Given the description of an element on the screen output the (x, y) to click on. 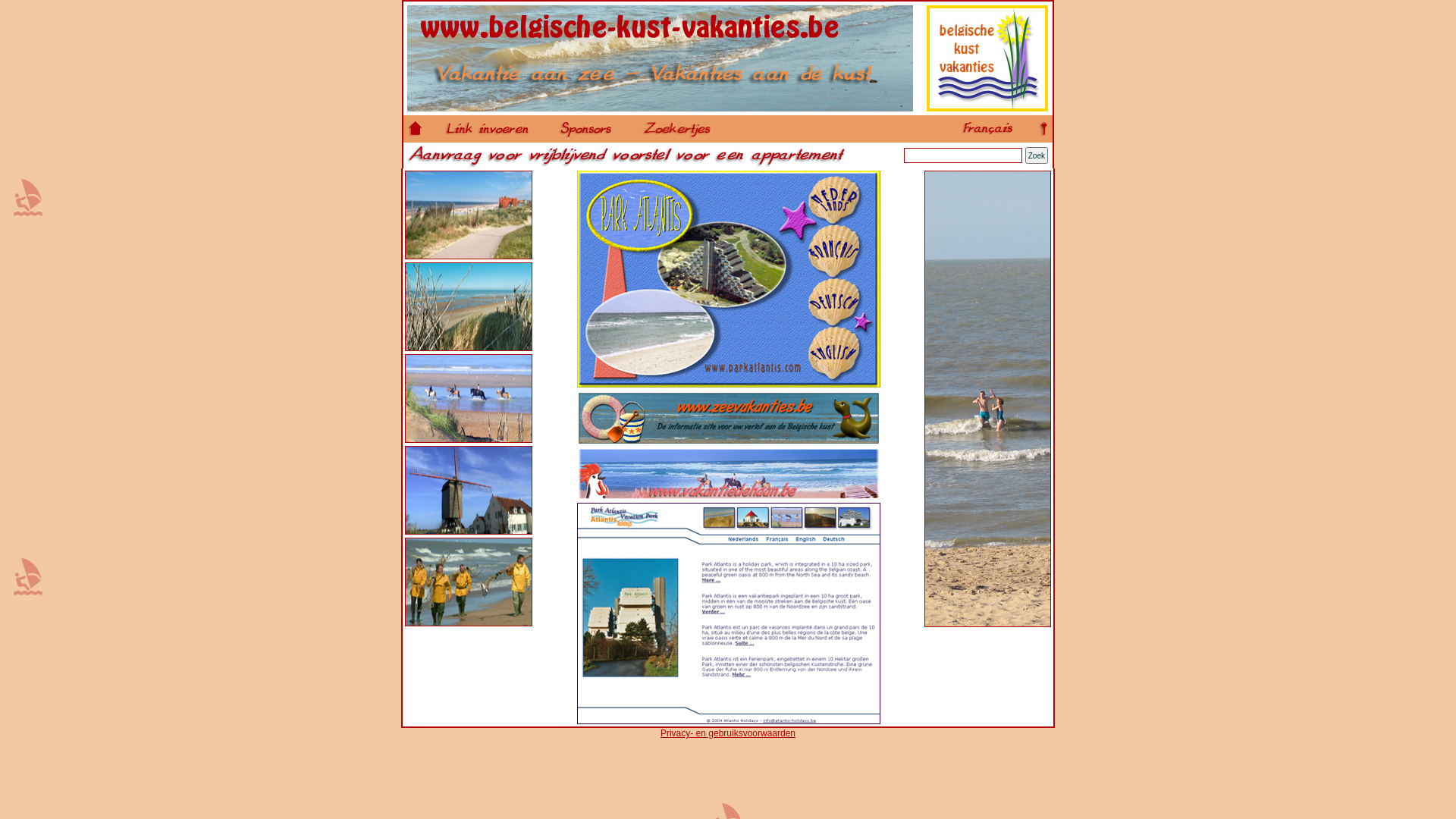
Privacy- en gebruiksvoorwaarden Element type: text (727, 733)
Zoek Element type: text (1036, 155)
